Given the description of an element on the screen output the (x, y) to click on. 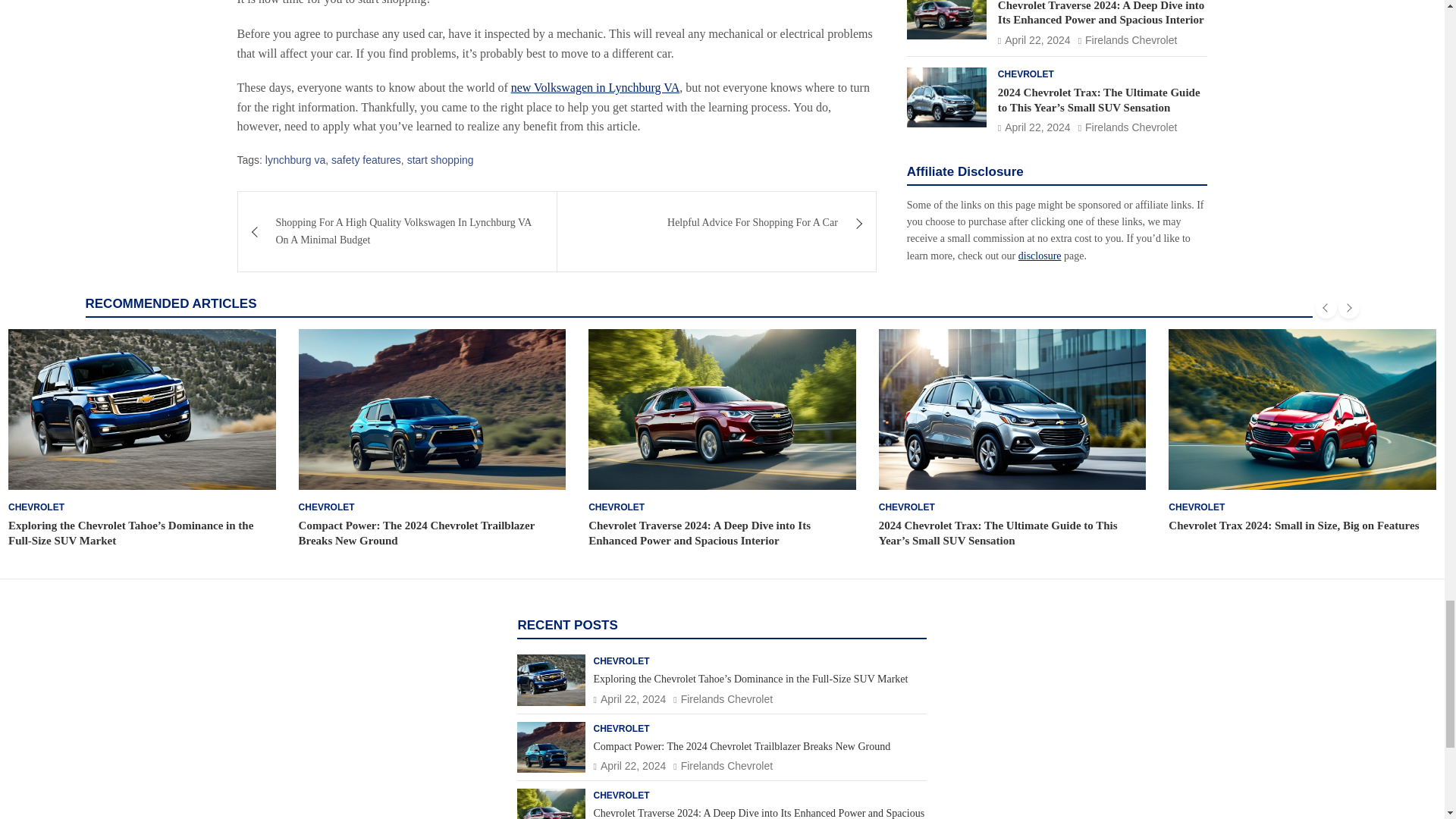
safety features (366, 159)
start shopping (440, 159)
Helpful Advice For Shopping For A Car (716, 222)
new Volkswagen in Lynchburg VA (595, 87)
lynchburg va (294, 159)
